Given the description of an element on the screen output the (x, y) to click on. 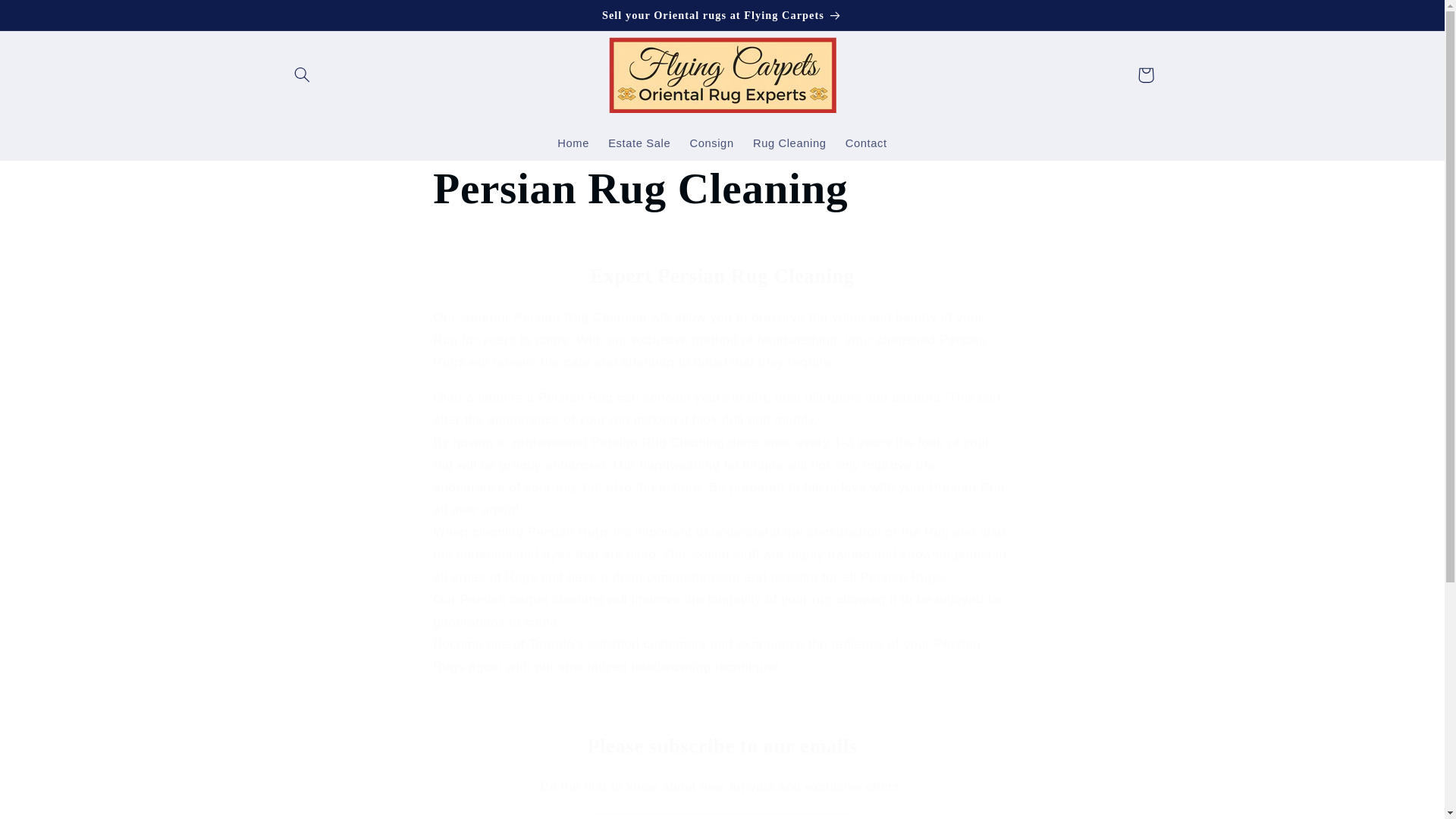
Rug Cleaning (788, 143)
Sell your Oriental rugs at Flying Carpets (721, 15)
Consign (711, 143)
Please subscribe to our emails (722, 746)
Email (722, 816)
Home (573, 143)
Contact (865, 143)
Cart (1145, 74)
Persian Rug Cleaning (721, 188)
Estate Sale (638, 143)
Skip to content (48, 18)
